Given the description of an element on the screen output the (x, y) to click on. 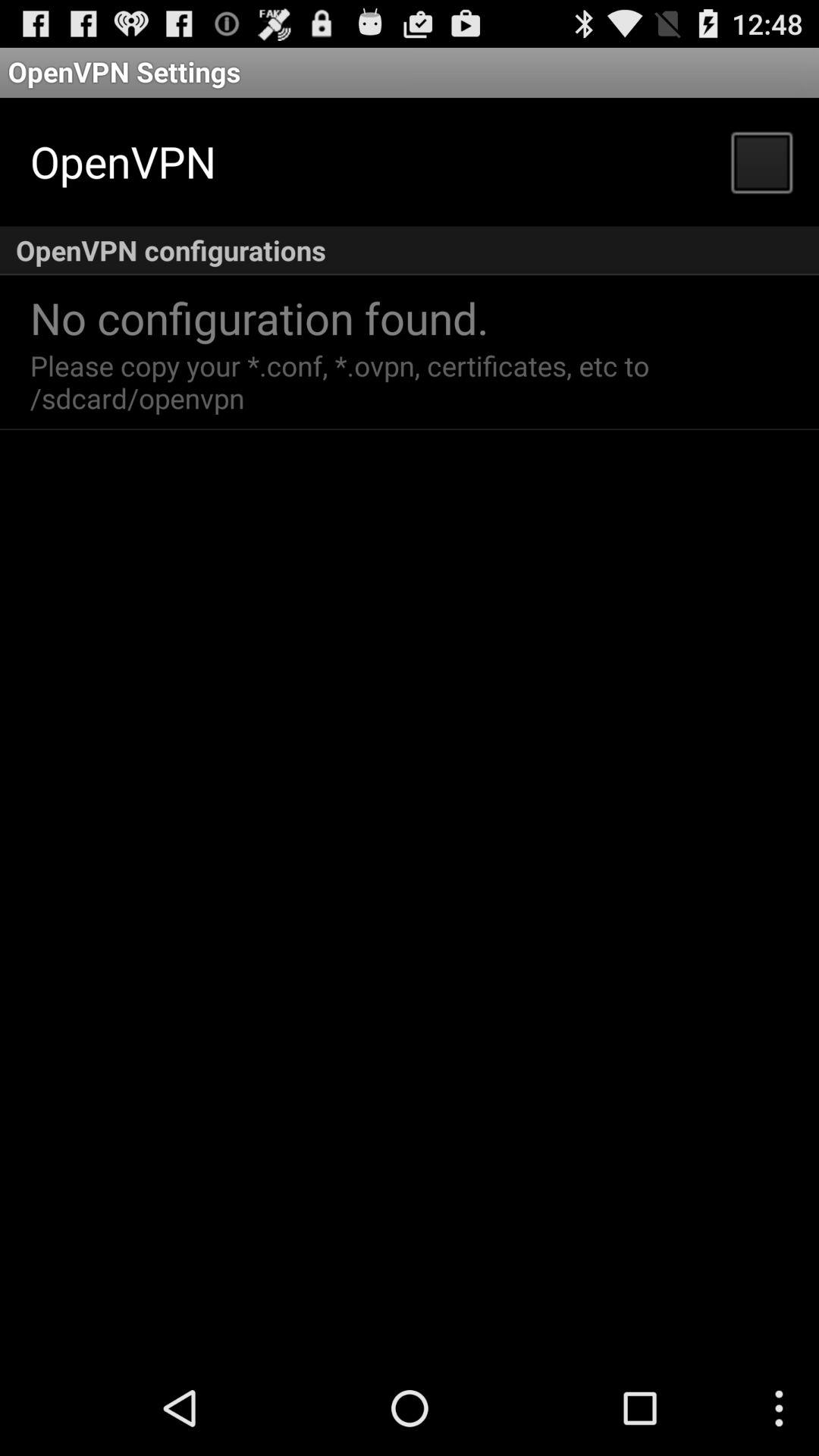
open the icon above the openvpn configurations item (761, 161)
